Given the description of an element on the screen output the (x, y) to click on. 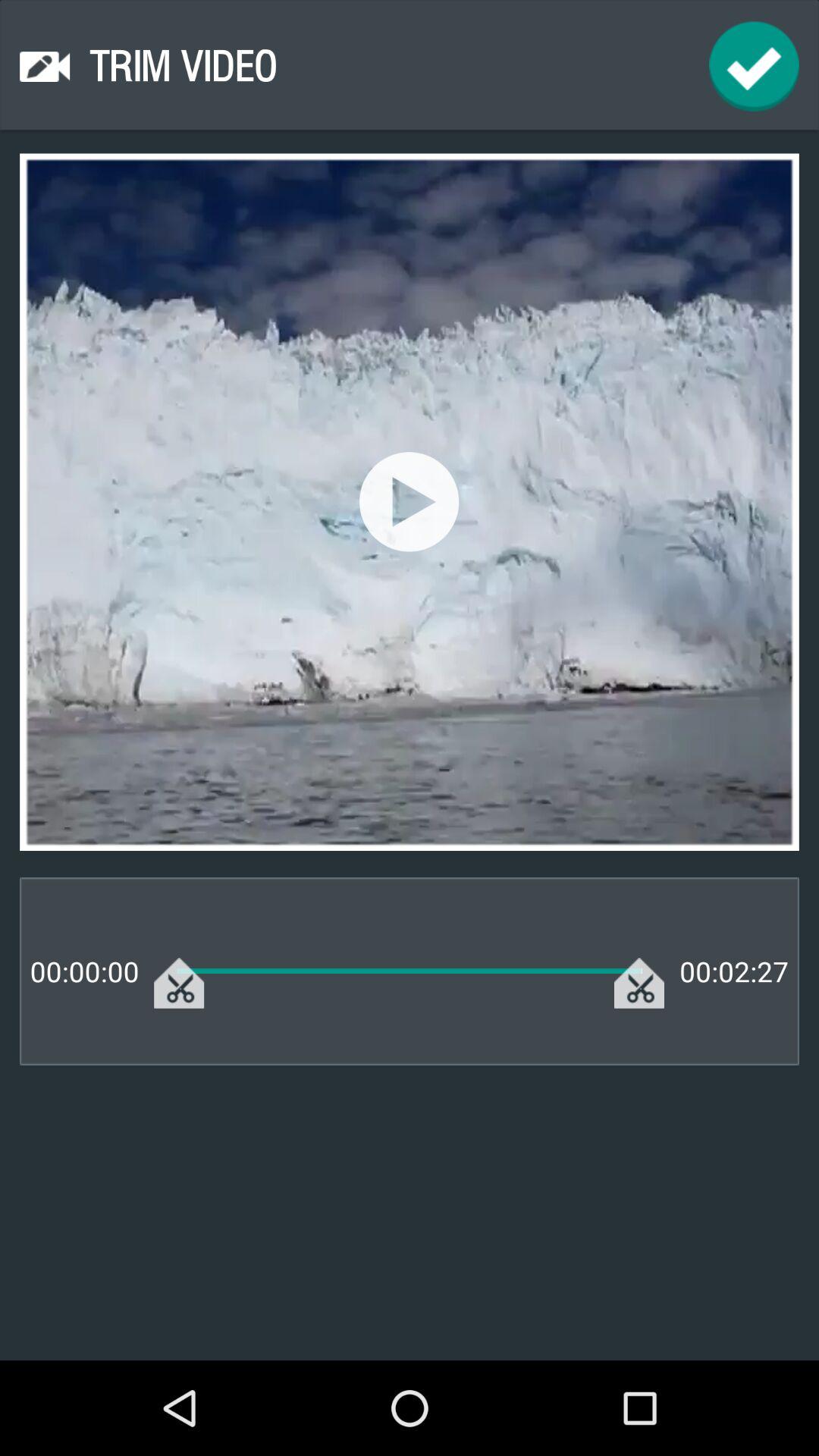
trim video selection (754, 66)
